Given the description of an element on the screen output the (x, y) to click on. 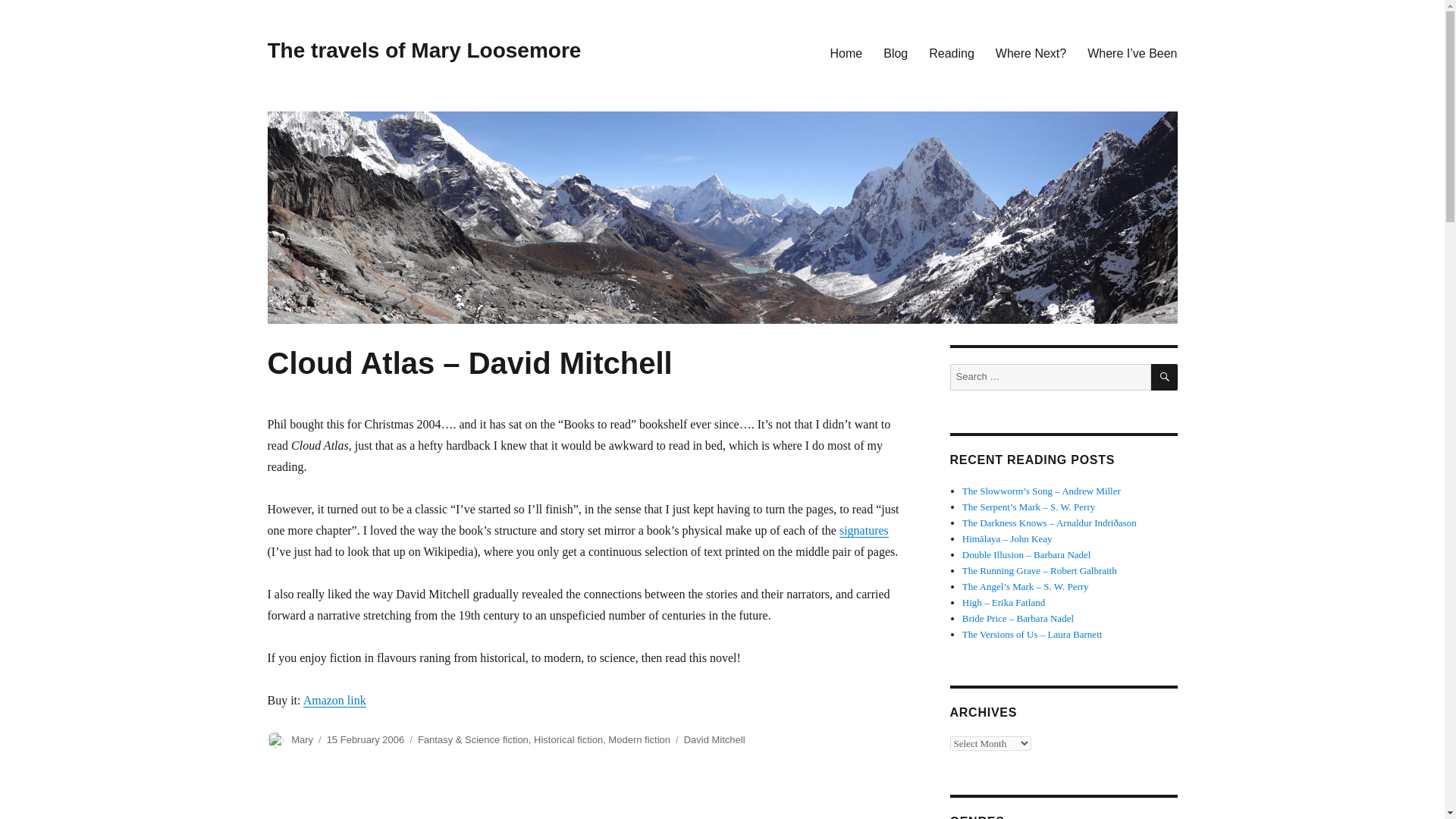
Modern fiction (638, 739)
15 February 2006 (365, 739)
Home (846, 52)
Blog (895, 52)
signatures (864, 530)
Historical fiction (568, 739)
Where Next? (1031, 52)
The travels of Mary Loosemore (423, 50)
Mary (302, 739)
Reading (951, 52)
